Given the description of an element on the screen output the (x, y) to click on. 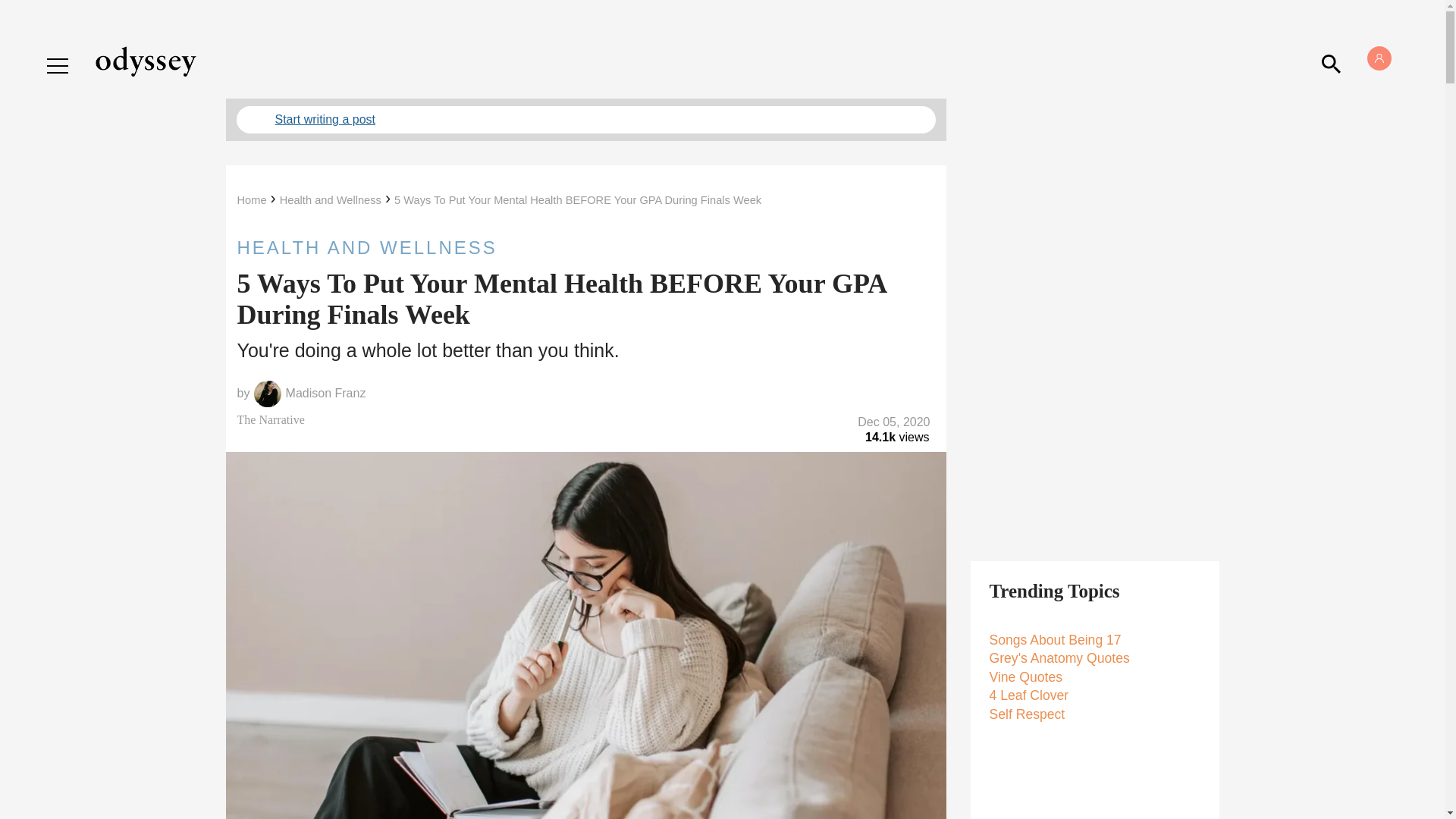
Health and Wellness (330, 200)
Home (250, 200)
Madison Franz (325, 393)
Start writing a post (585, 119)
HEALTH AND WELLNESS (584, 248)
